Given the description of an element on the screen output the (x, y) to click on. 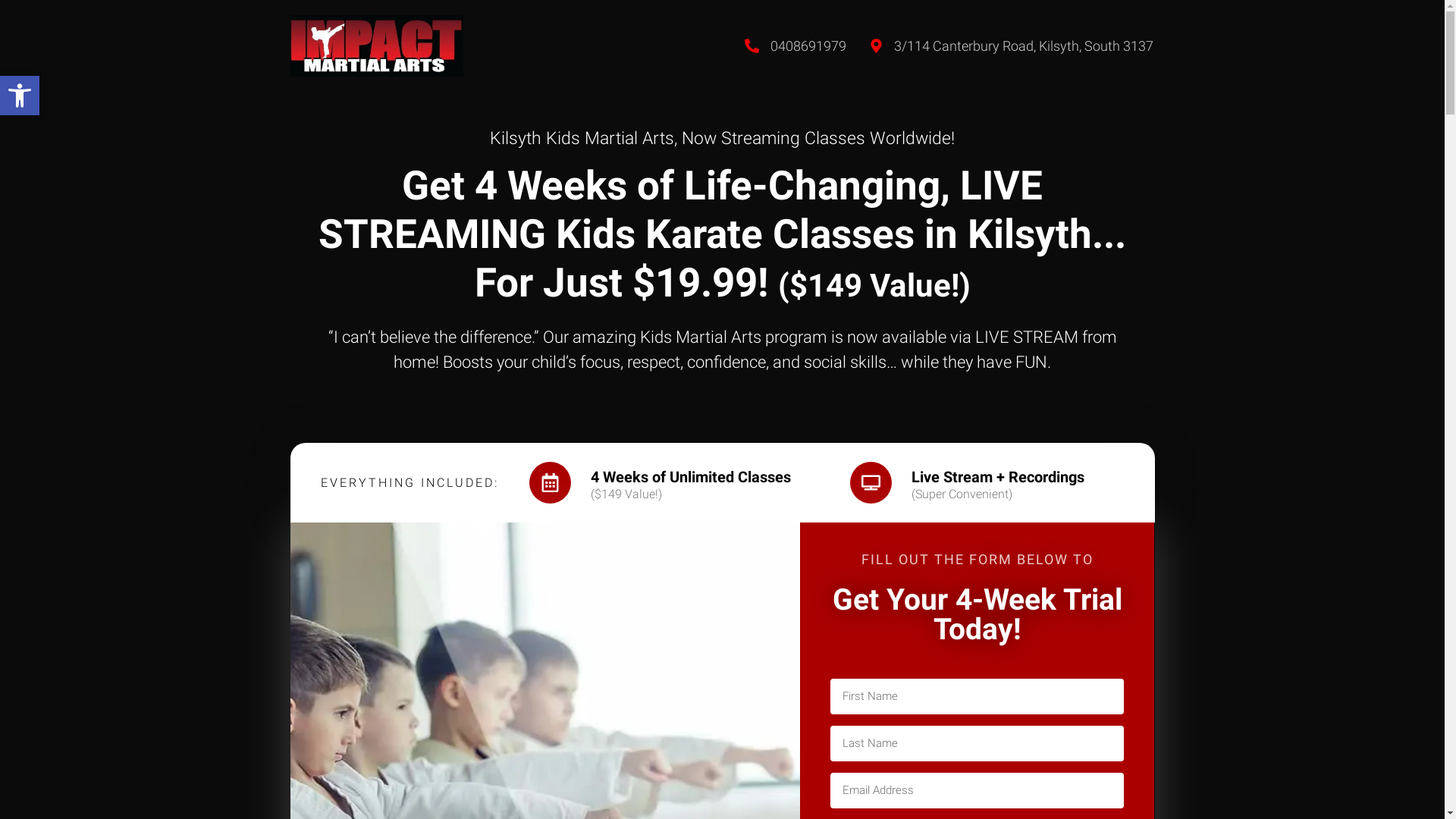
Open toolbar
Accessibility Tools Element type: text (19, 95)
